Given the description of an element on the screen output the (x, y) to click on. 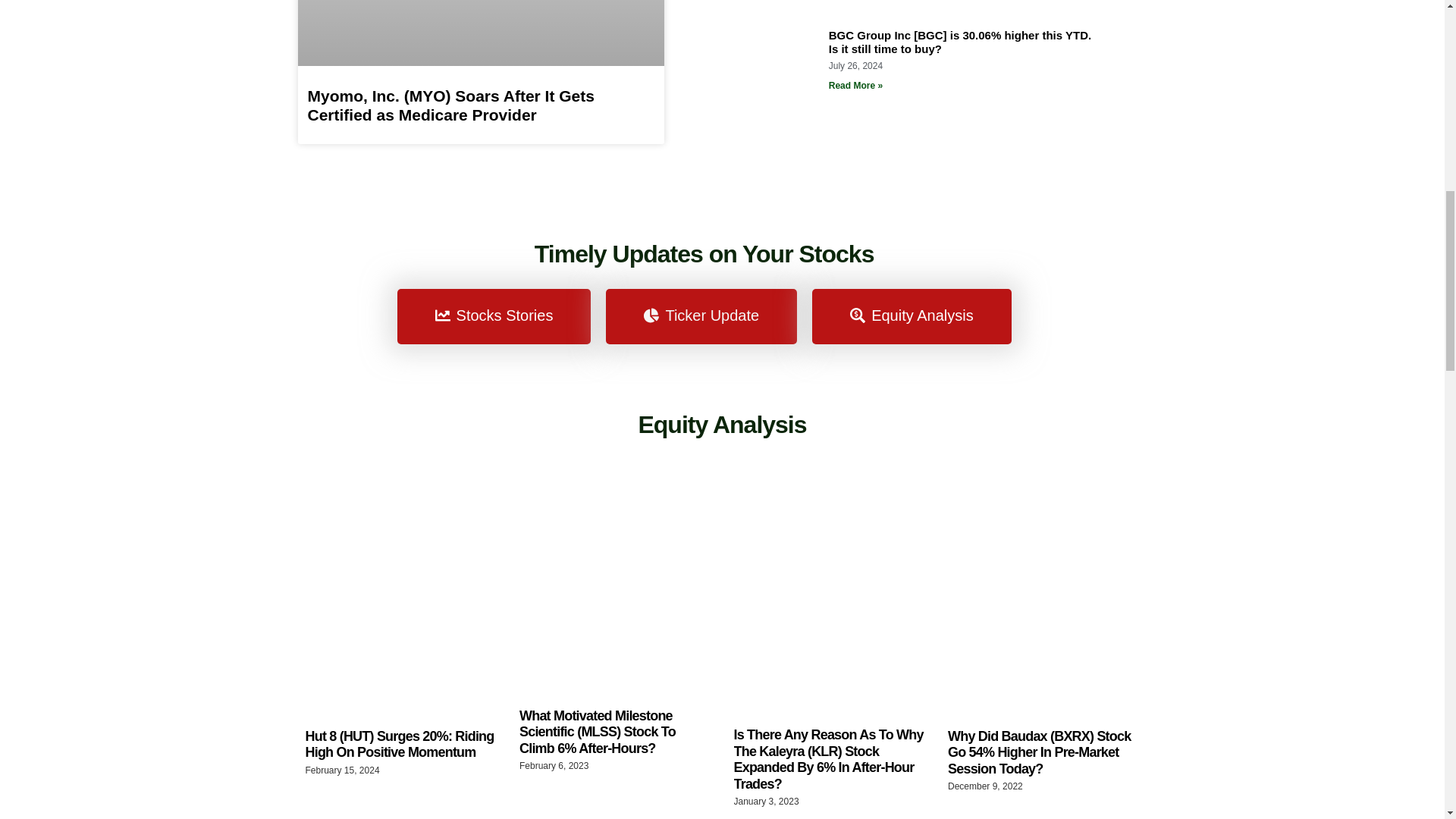
Ticker Update (700, 316)
Stocks Stories (494, 316)
Equity Analysis (911, 316)
Equity Analysis (721, 424)
